Given the description of an element on the screen output the (x, y) to click on. 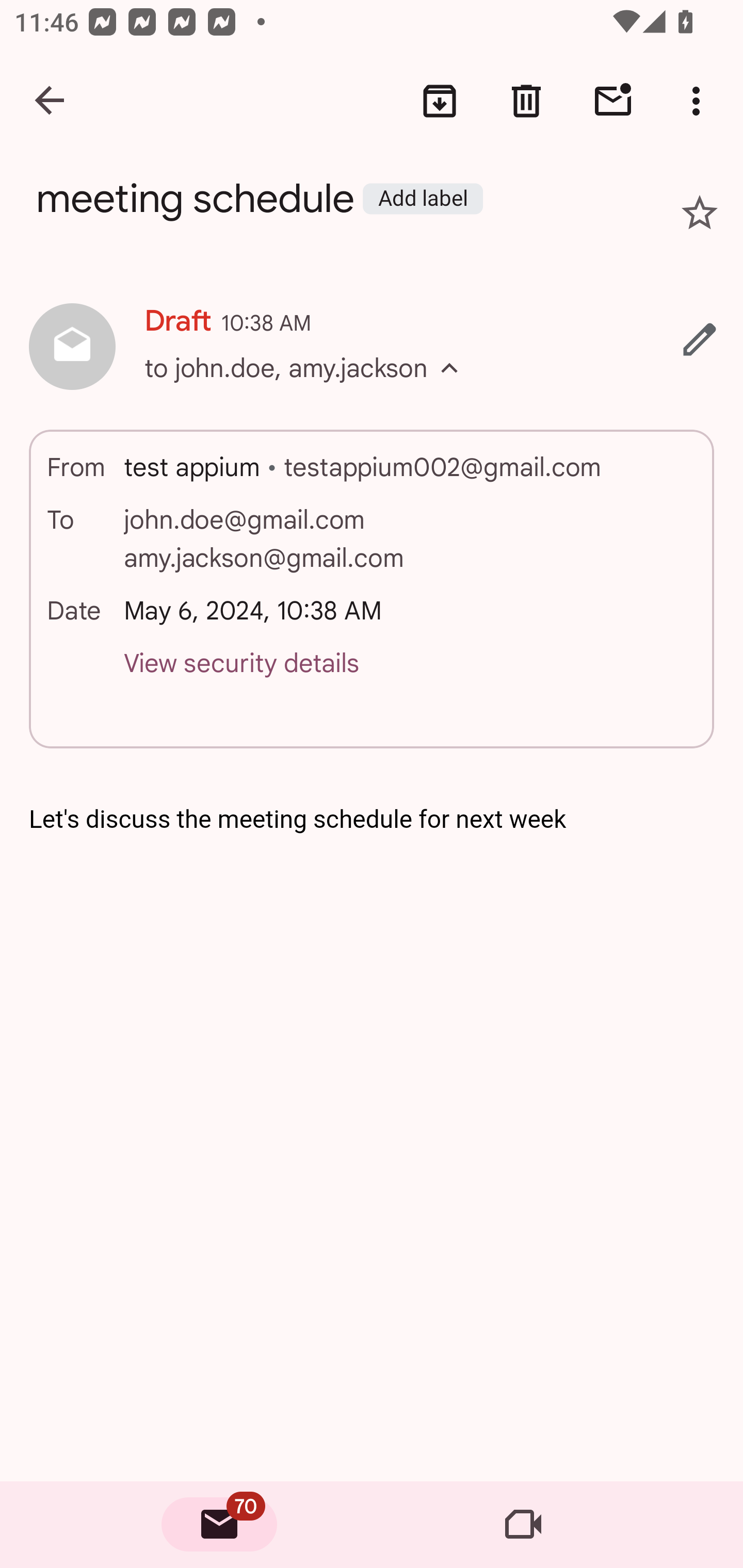
Navigate up (50, 101)
Archive (439, 101)
Discard drafts (525, 101)
Mark unread (612, 101)
More options (699, 101)
Add star (699, 212)
Draft 10:38 AM to john.doe, amy.jackson Edit (371, 347)
Edit (699, 339)
to john.doe, amy.jackson (307, 386)
Meet (523, 1524)
